Given the description of an element on the screen output the (x, y) to click on. 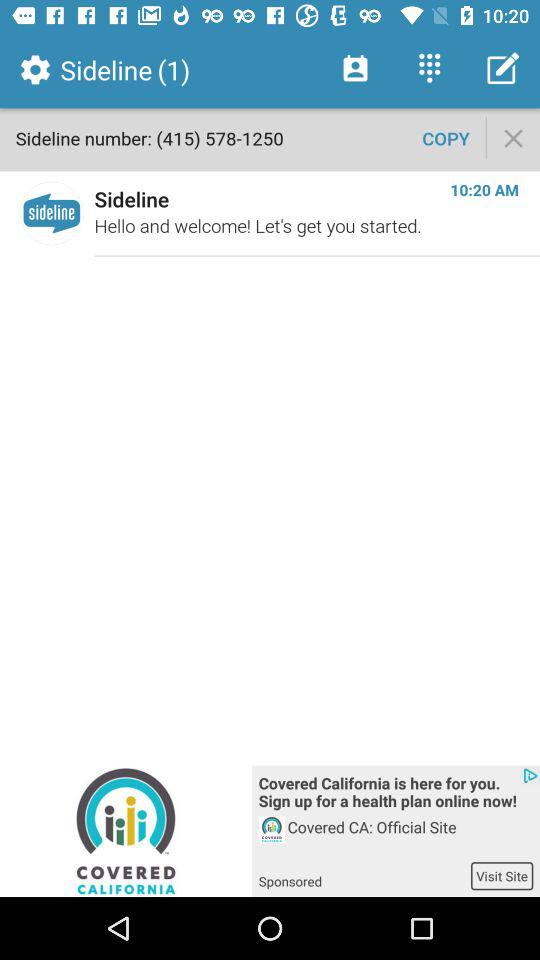
swipe until sponsored icon (364, 875)
